Given the description of an element on the screen output the (x, y) to click on. 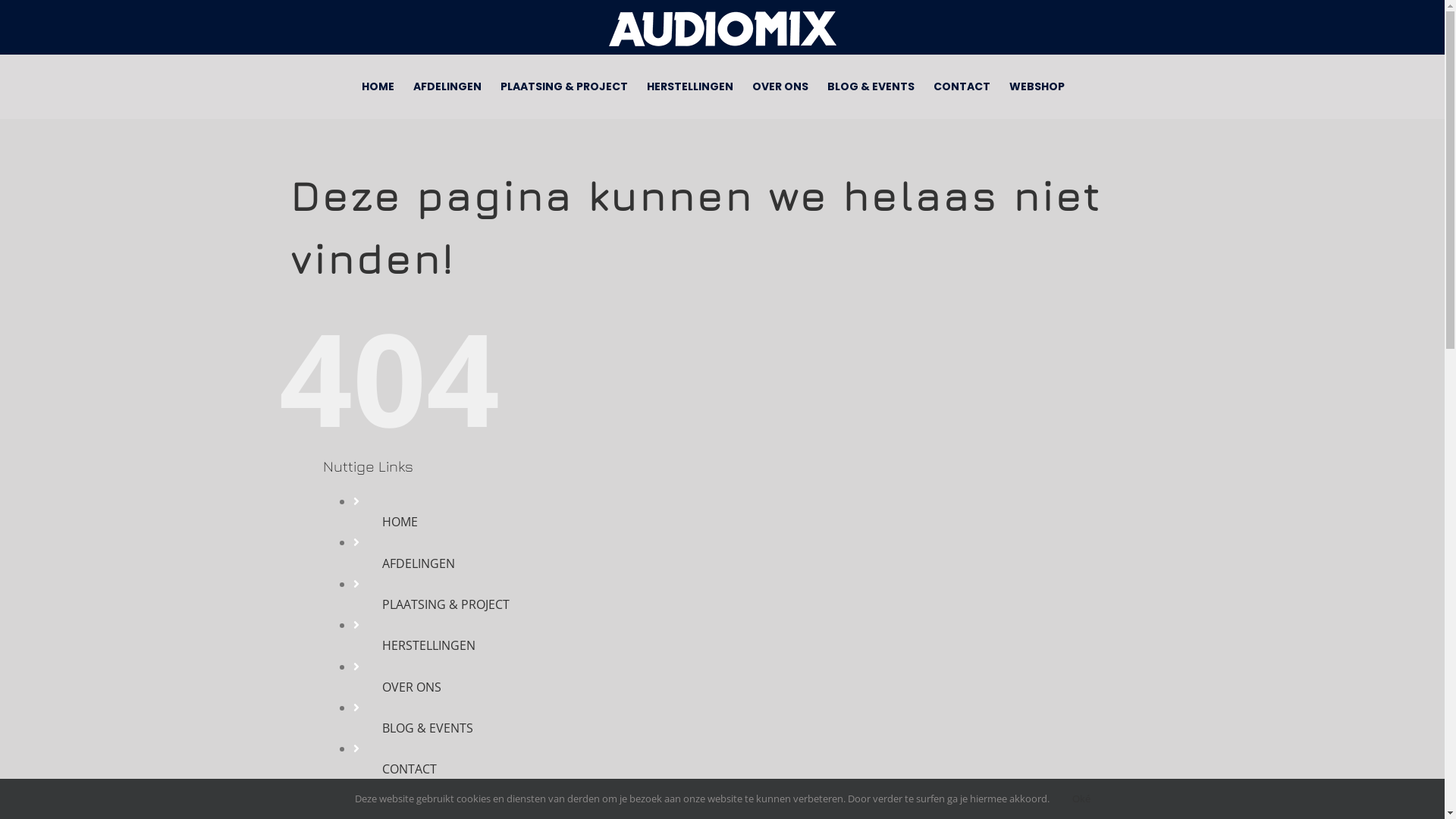
OVER ONS Element type: text (780, 86)
CONTACT Element type: text (960, 86)
HERSTELLINGEN Element type: text (428, 645)
HOME Element type: text (376, 86)
WEBSHOP Element type: text (1035, 86)
OVER ONS Element type: text (411, 686)
PLAATSING & PROJECT Element type: text (563, 86)
BLOG & EVENTS Element type: text (869, 86)
AFDELINGEN Element type: text (446, 86)
HERSTELLINGEN Element type: text (689, 86)
AFDELINGEN Element type: text (418, 563)
CONTACT Element type: text (409, 768)
PLAATSING & PROJECT Element type: text (445, 604)
BLOG & EVENTS Element type: text (427, 727)
HOME Element type: text (399, 521)
